Given the description of an element on the screen output the (x, y) to click on. 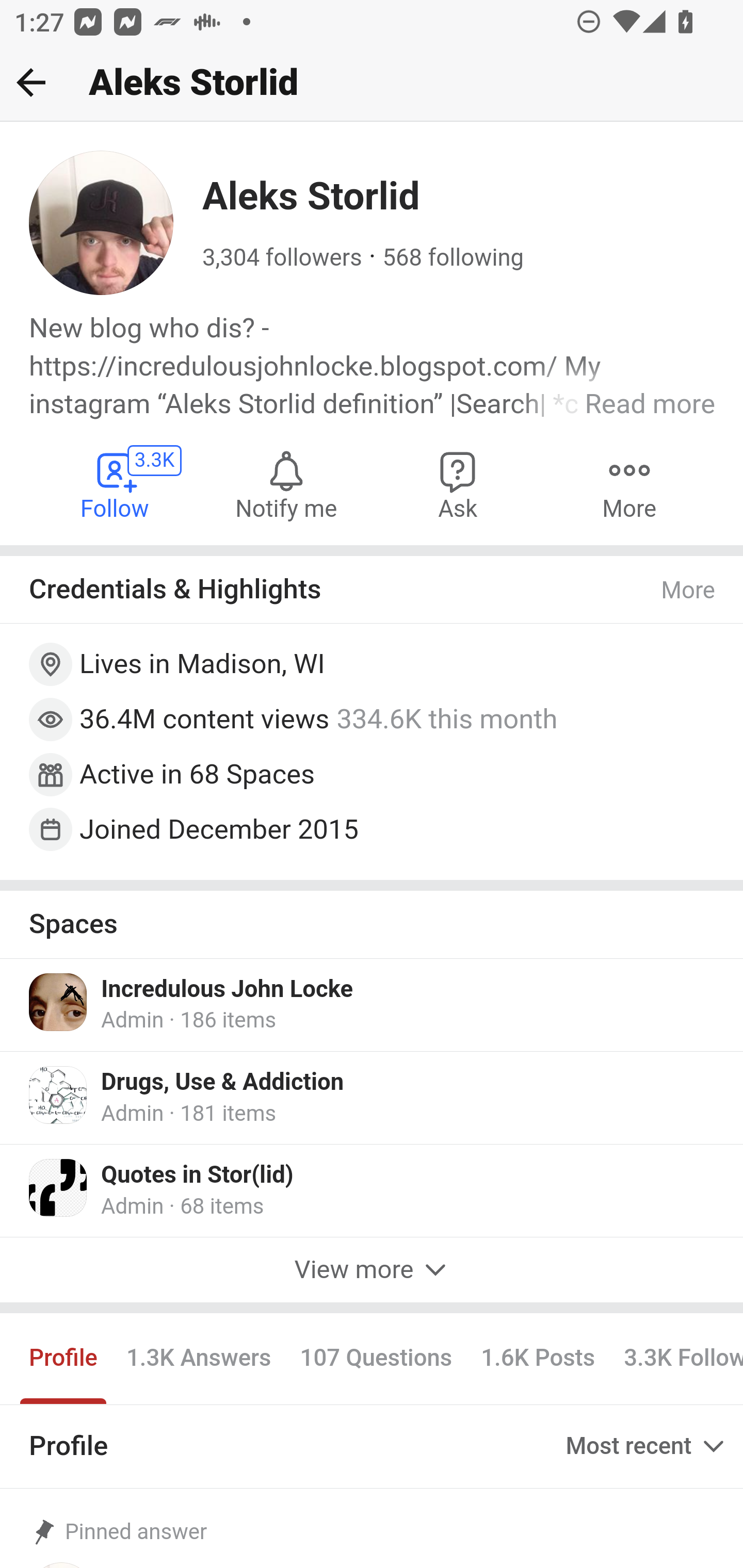
Back (30, 82)
3,304 followers (282, 257)
568 following (452, 257)
Follow Aleks Storlid 3.3K Follow (115, 483)
Notify me (285, 483)
Ask (458, 483)
More (628, 483)
More (688, 590)
Icon for Incredulous John Locke (58, 1001)
Incredulous John Locke (227, 990)
Icon for Drugs, Use & Addiction (58, 1094)
Drugs, Use & Addiction (222, 1082)
Icon for Quotes in Stor(lid) (58, 1186)
Quotes in Stor(lid) (197, 1174)
View more (371, 1270)
Profile (63, 1358)
1.3K Answers (197, 1358)
107 Questions (376, 1358)
1.6K Posts (537, 1358)
3.3K Followers (675, 1358)
Most recent (647, 1445)
